Given the description of an element on the screen output the (x, y) to click on. 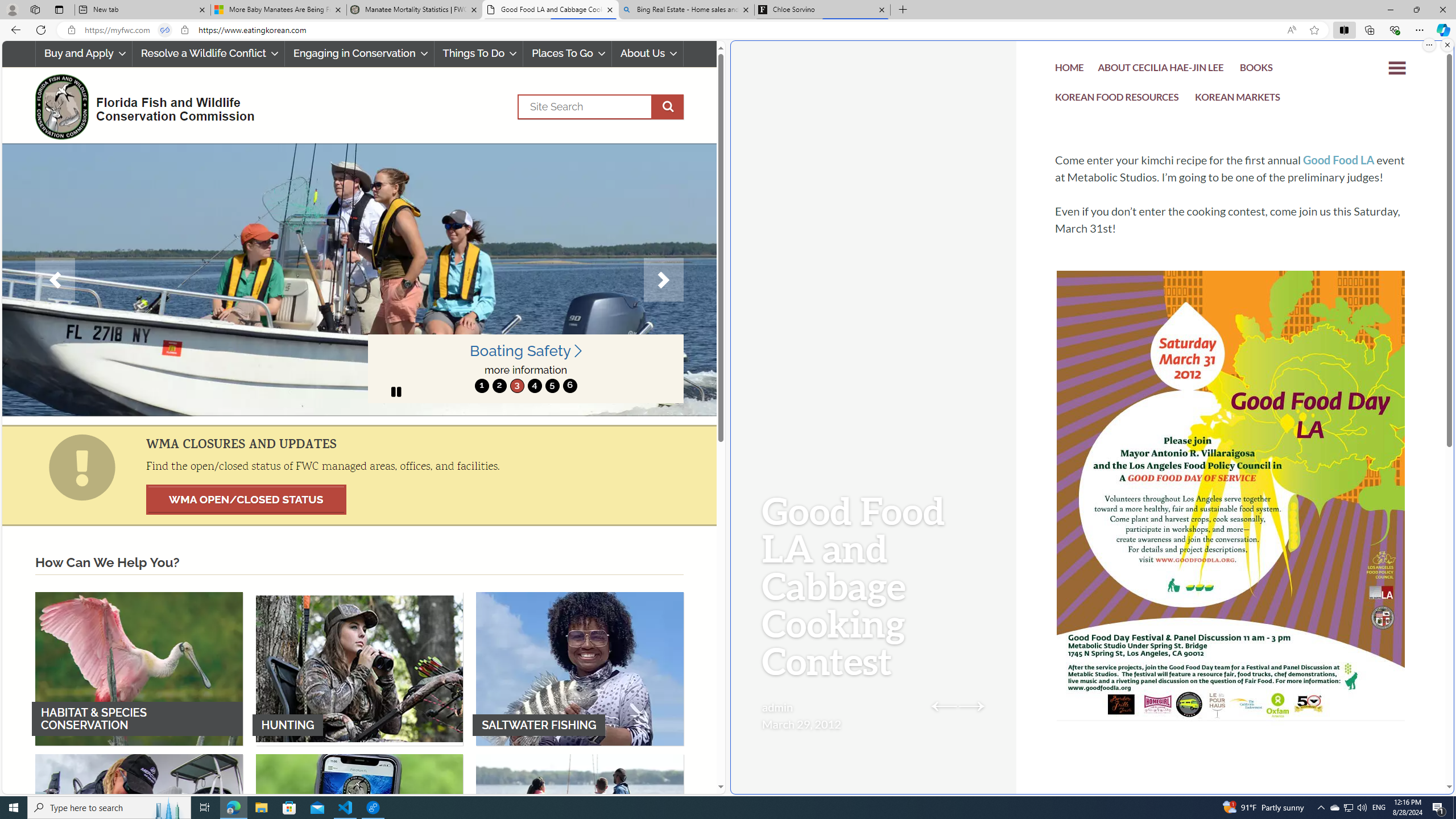
Next (663, 279)
ABOUT CECILIA HAE-JIN LEE (1160, 70)
good food la poster (1231, 530)
KOREAN FOOD RESOURCES (1117, 99)
1 (481, 385)
Chloe Sorvino (822, 9)
BOOKS (1256, 70)
Boating Safety  (526, 351)
Good Food LA (1338, 160)
HOME (1069, 70)
